Given the description of an element on the screen output the (x, y) to click on. 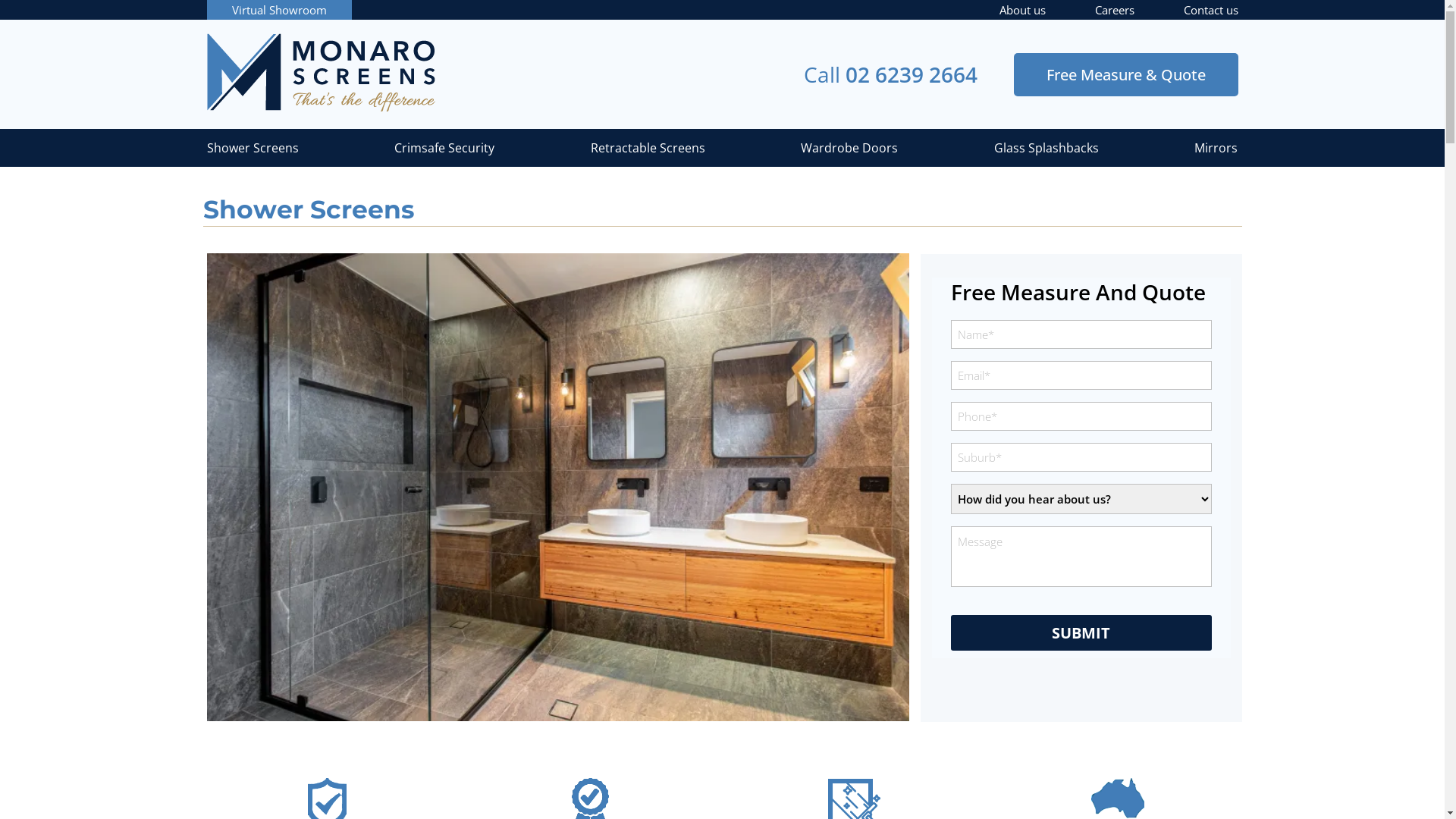
Free Measure & Quote Element type: text (1125, 74)
Careers Element type: text (1114, 9)
Mirrors Element type: text (1215, 147)
Wardrobe Doors Element type: text (848, 147)
Glass Splashbacks Element type: text (1046, 147)
Submit Element type: text (1081, 632)
Call 02 6239 2664 Element type: text (890, 73)
Contact us Element type: text (1210, 9)
Shower Screens Element type: text (252, 147)
Virtual Showroom Element type: text (278, 9)
Retractable Screens Element type: text (647, 147)
About us Element type: text (1022, 9)
Crimsafe Security Element type: text (444, 147)
